Given the description of an element on the screen output the (x, y) to click on. 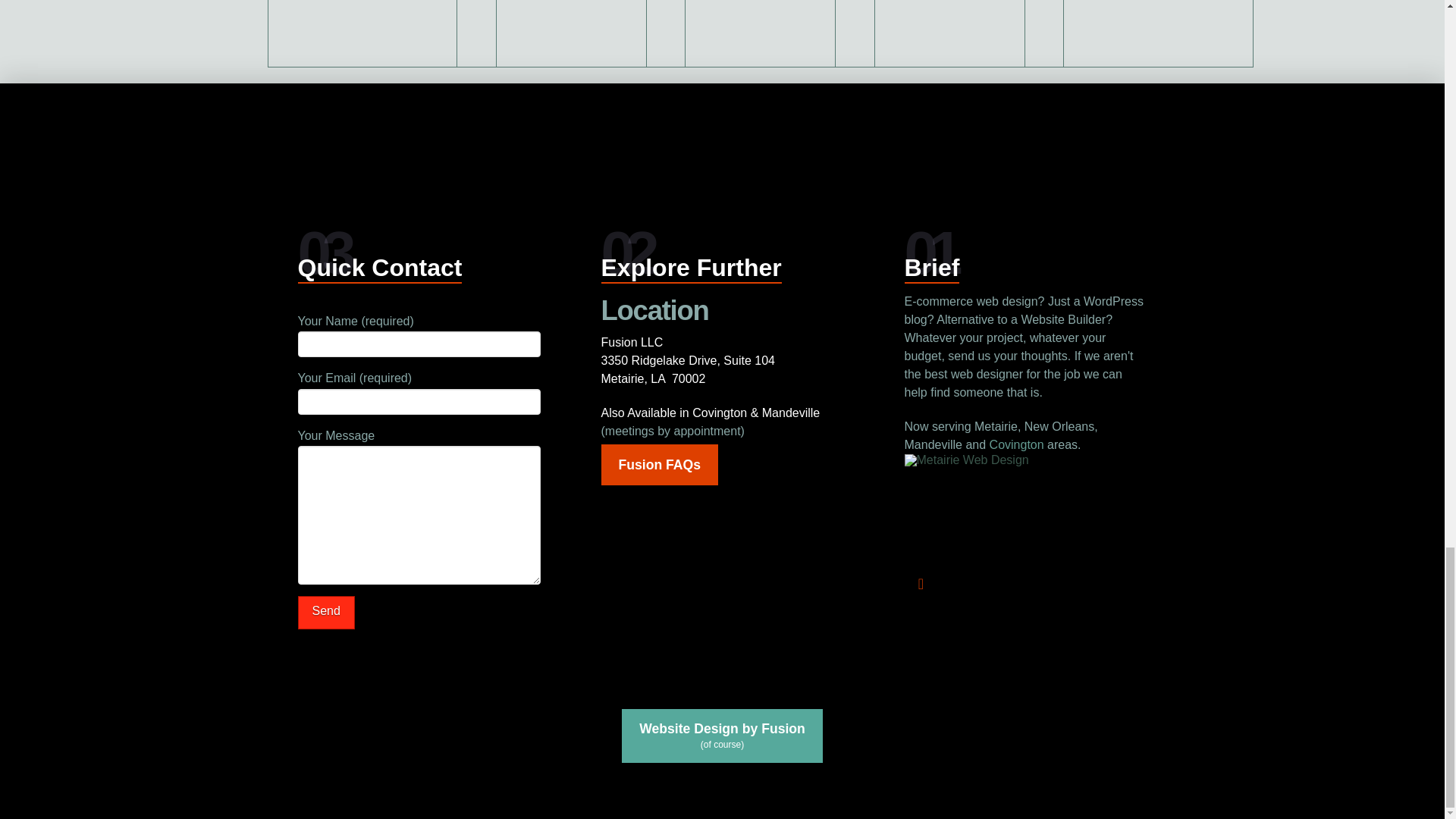
Send (325, 612)
Fusion FAQs (658, 464)
Send (325, 612)
Covington (1016, 444)
